Given the description of an element on the screen output the (x, y) to click on. 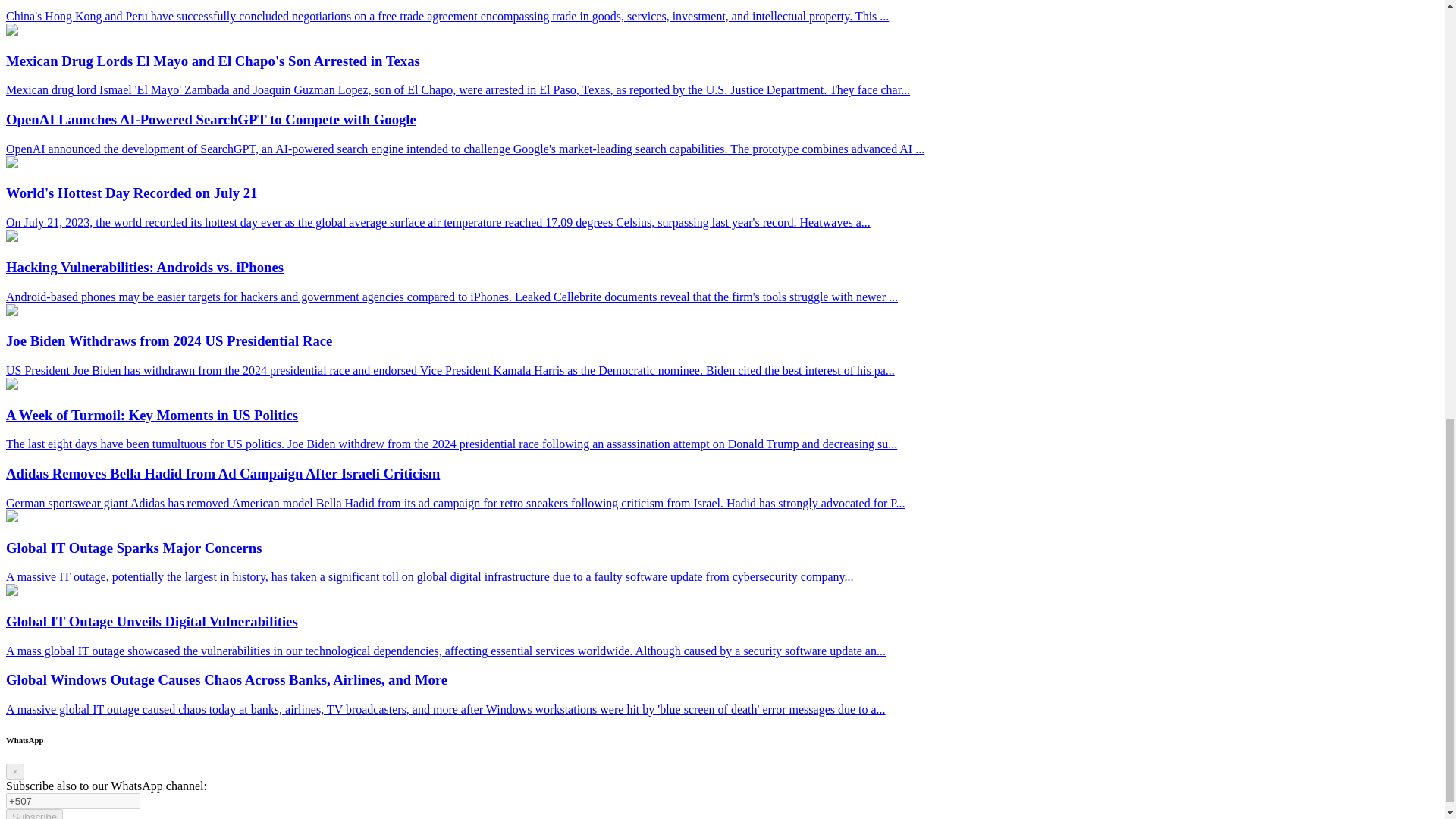
World's Hottest Day Recorded on July 21 (11, 164)
A Week of Turmoil: Key Moments in US Politics (11, 385)
Hacking Vulnerabilities: Androids vs. iPhones (11, 237)
Joe Biden Withdraws from 2024 US Presidential Race (11, 311)
Global IT Outage Sparks Major Concerns (11, 517)
Global IT Outage Unveils Digital Vulnerabilities (11, 591)
